Given the description of an element on the screen output the (x, y) to click on. 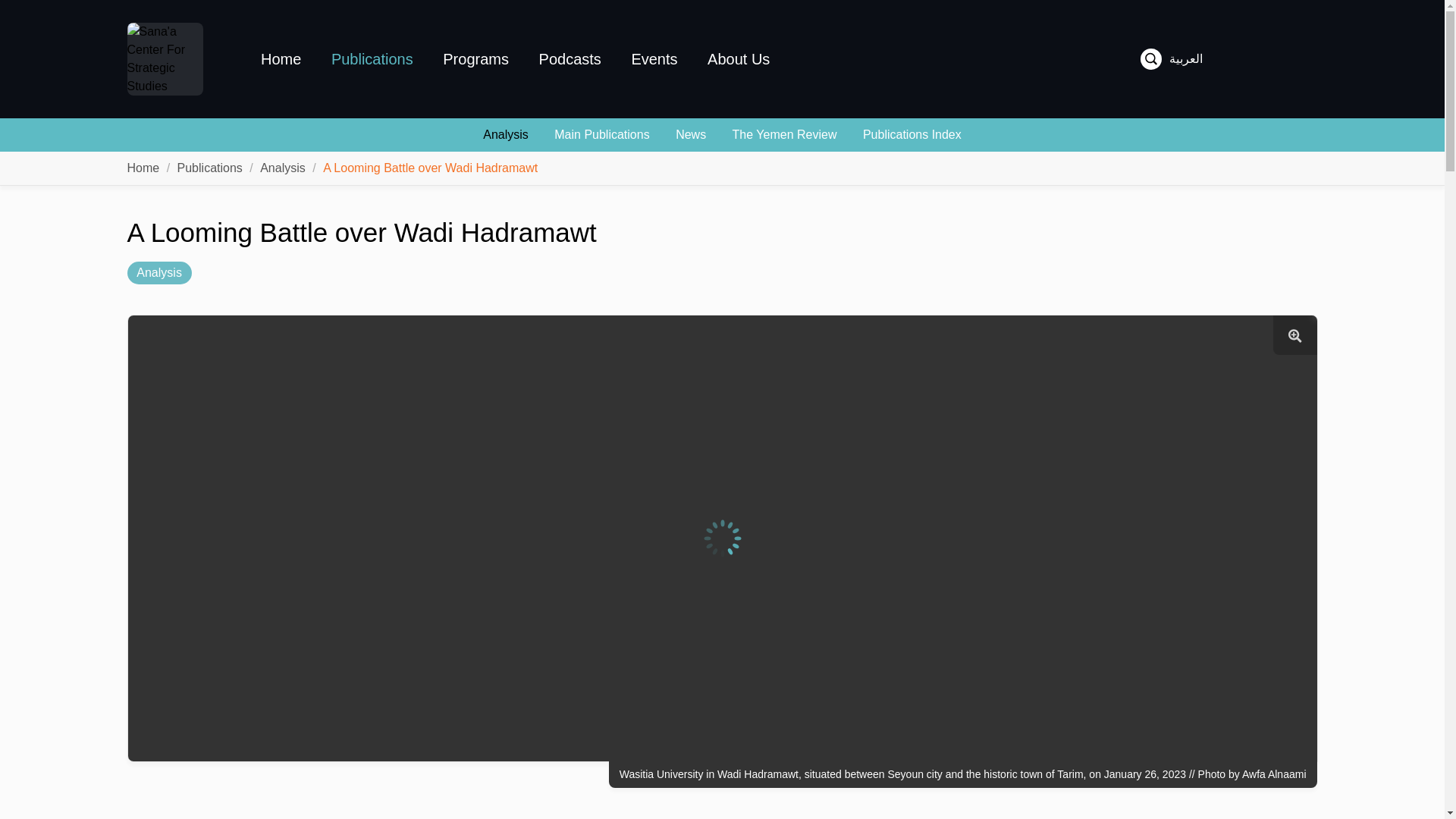
Analysis (505, 135)
Publications Index (911, 135)
Home (144, 167)
Analysis (282, 167)
Analysis (282, 167)
Publications (210, 167)
Analysis (160, 272)
Home (144, 167)
Toggle search bar (1150, 58)
Home (280, 58)
